Given the description of an element on the screen output the (x, y) to click on. 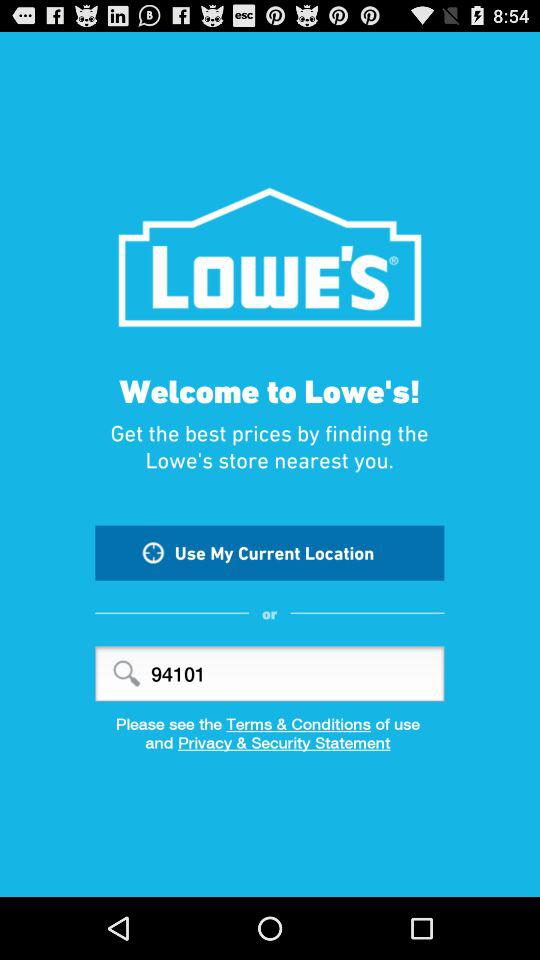
jump to the 94101 icon (269, 673)
